Given the description of an element on the screen output the (x, y) to click on. 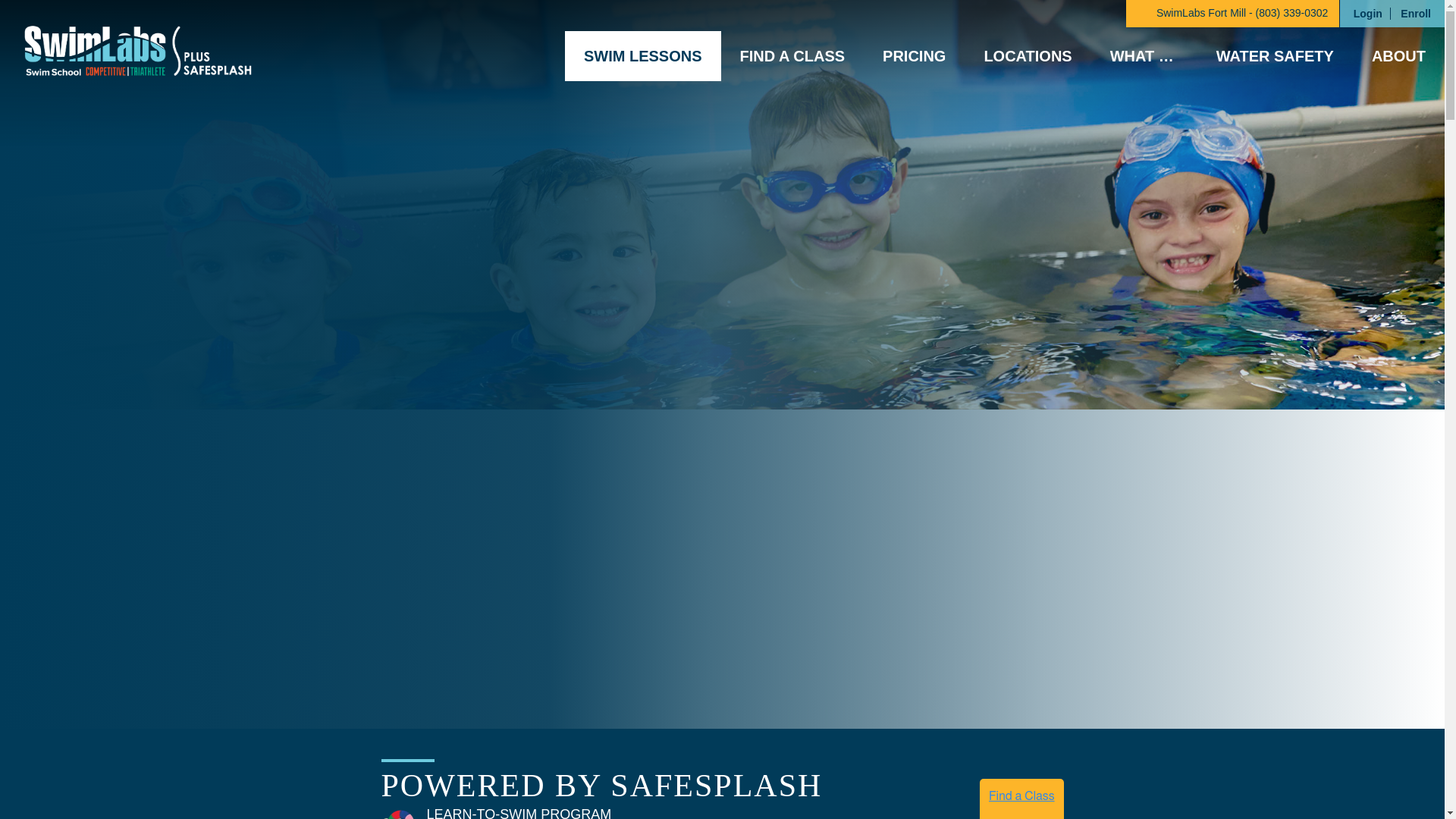
Enroll (1415, 13)
WHAT TO EXPECT (1143, 56)
SwimLabs logo (137, 50)
PRICING (913, 56)
LOCATIONS (1026, 56)
WATER SAFETY (1274, 56)
SWIM LESSONS (642, 56)
FIND A CLASS (792, 56)
Login (1367, 13)
